Given the description of an element on the screen output the (x, y) to click on. 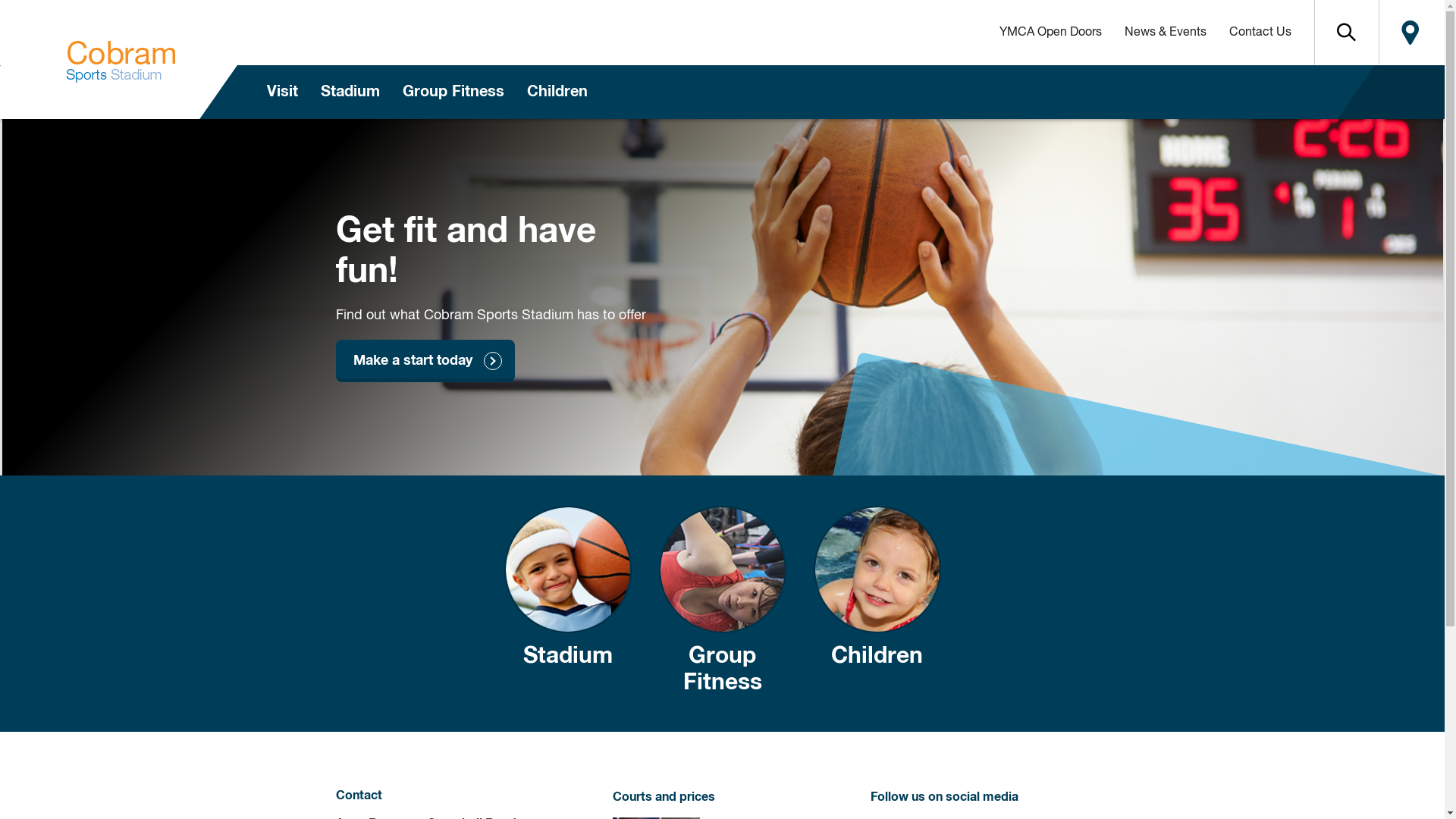
Children Element type: text (557, 92)
YMCA Open Doors Element type: text (1049, 32)
Make a start today Element type: text (424, 360)
Group Fitness Element type: text (721, 603)
Stadium Element type: text (350, 92)
News & Events Element type: text (1165, 32)
Children Element type: text (876, 603)
Stadium Element type: text (566, 603)
Locate Element type: text (1410, 32)
Contact Us Element type: text (1259, 32)
Group Fitness Element type: text (453, 92)
Visit Element type: text (281, 92)
